Given the description of an element on the screen output the (x, y) to click on. 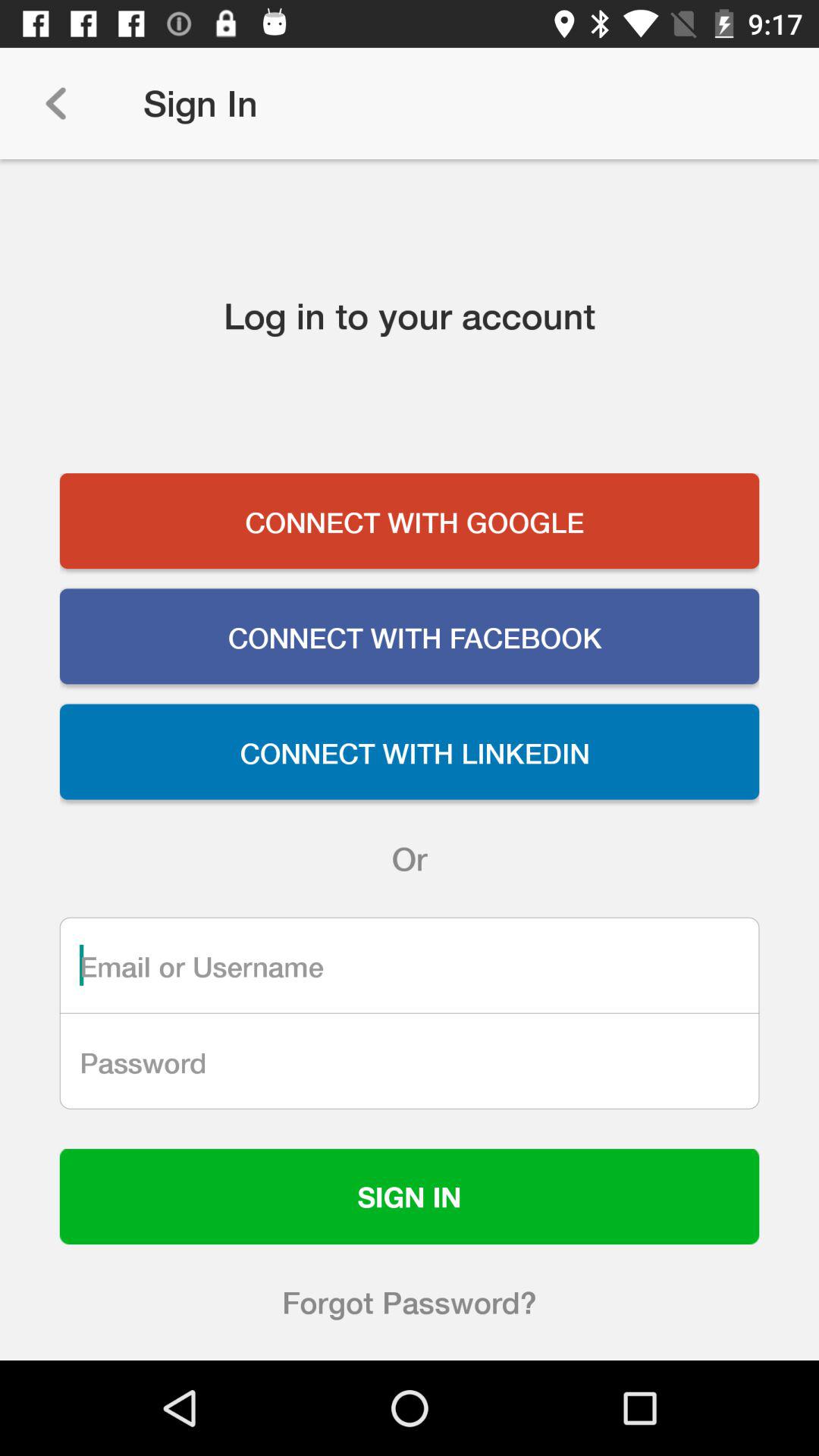
enter username (409, 964)
